Given the description of an element on the screen output the (x, y) to click on. 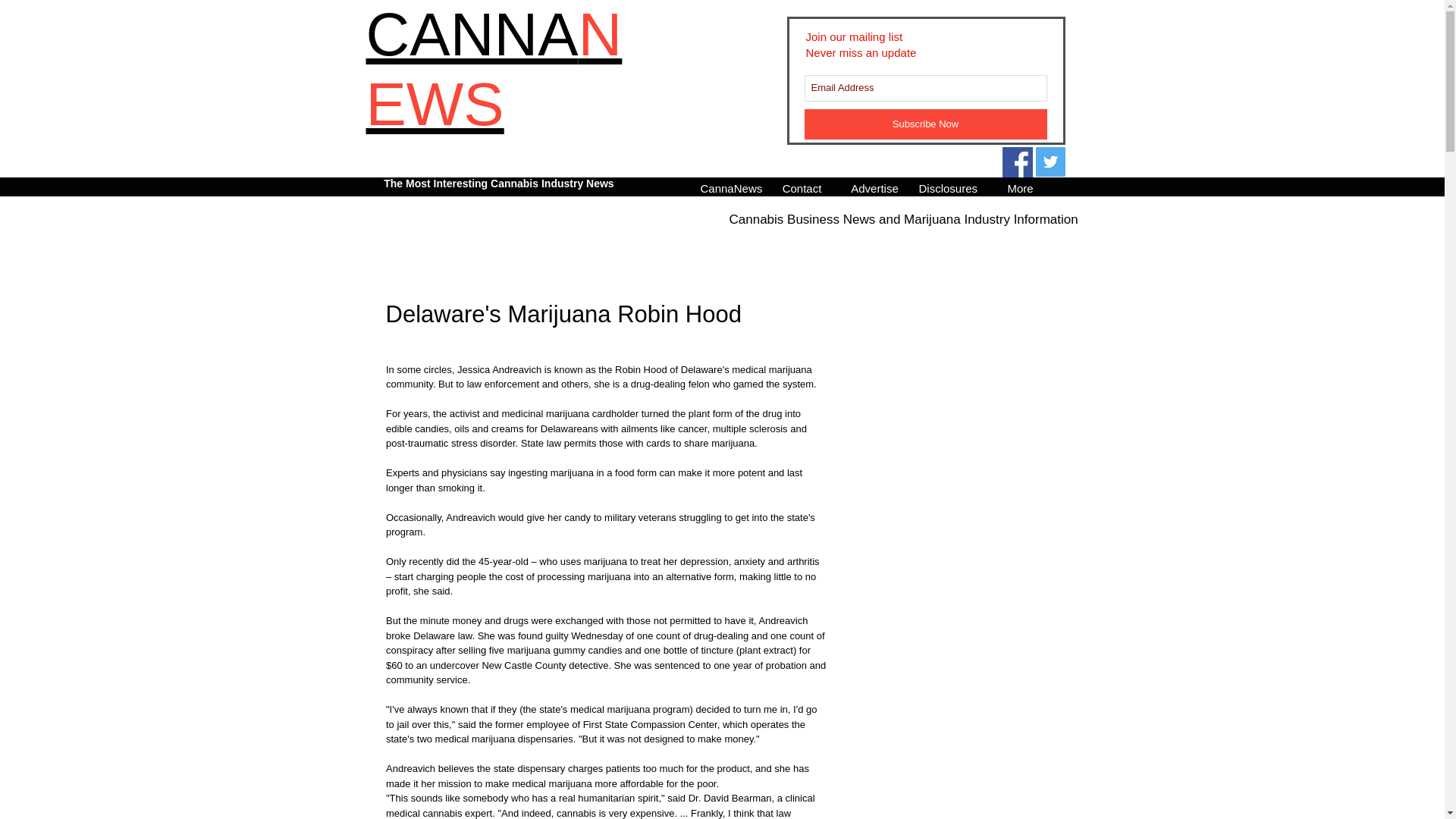
Contact (801, 186)
Disclosures (947, 186)
Advertise (874, 186)
Subscribe Now (924, 123)
CANNANEWS (493, 69)
CannaNews (729, 186)
